Given the description of an element on the screen output the (x, y) to click on. 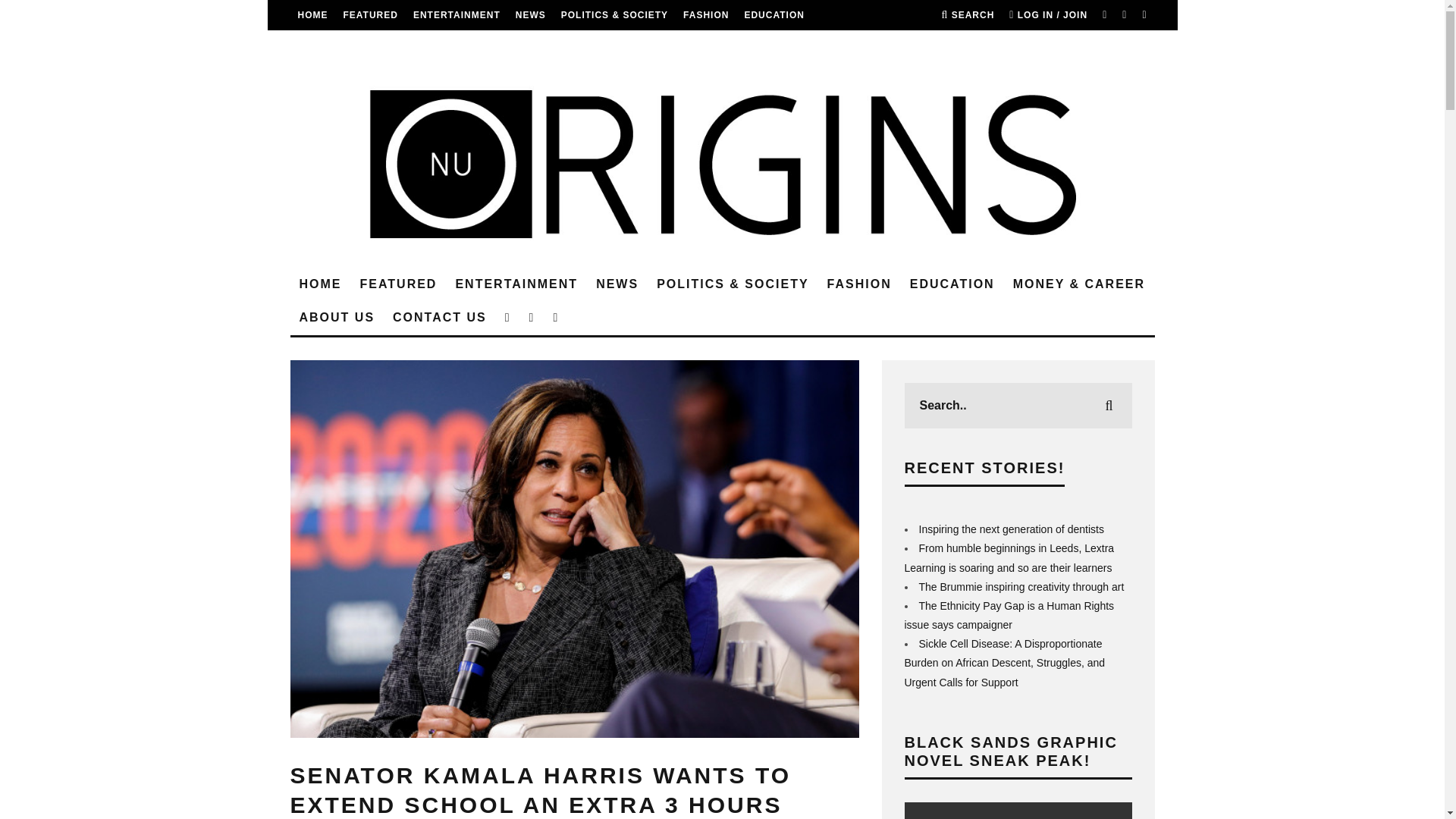
Log In (721, 409)
Search (968, 15)
NEWS (530, 15)
ABOUT US (433, 45)
FASHION (705, 15)
SEARCH (968, 15)
EDUCATION (773, 15)
HOME (319, 284)
CONTACT US (508, 45)
ENTERTAINMENT (456, 15)
